Given the description of an element on the screen output the (x, y) to click on. 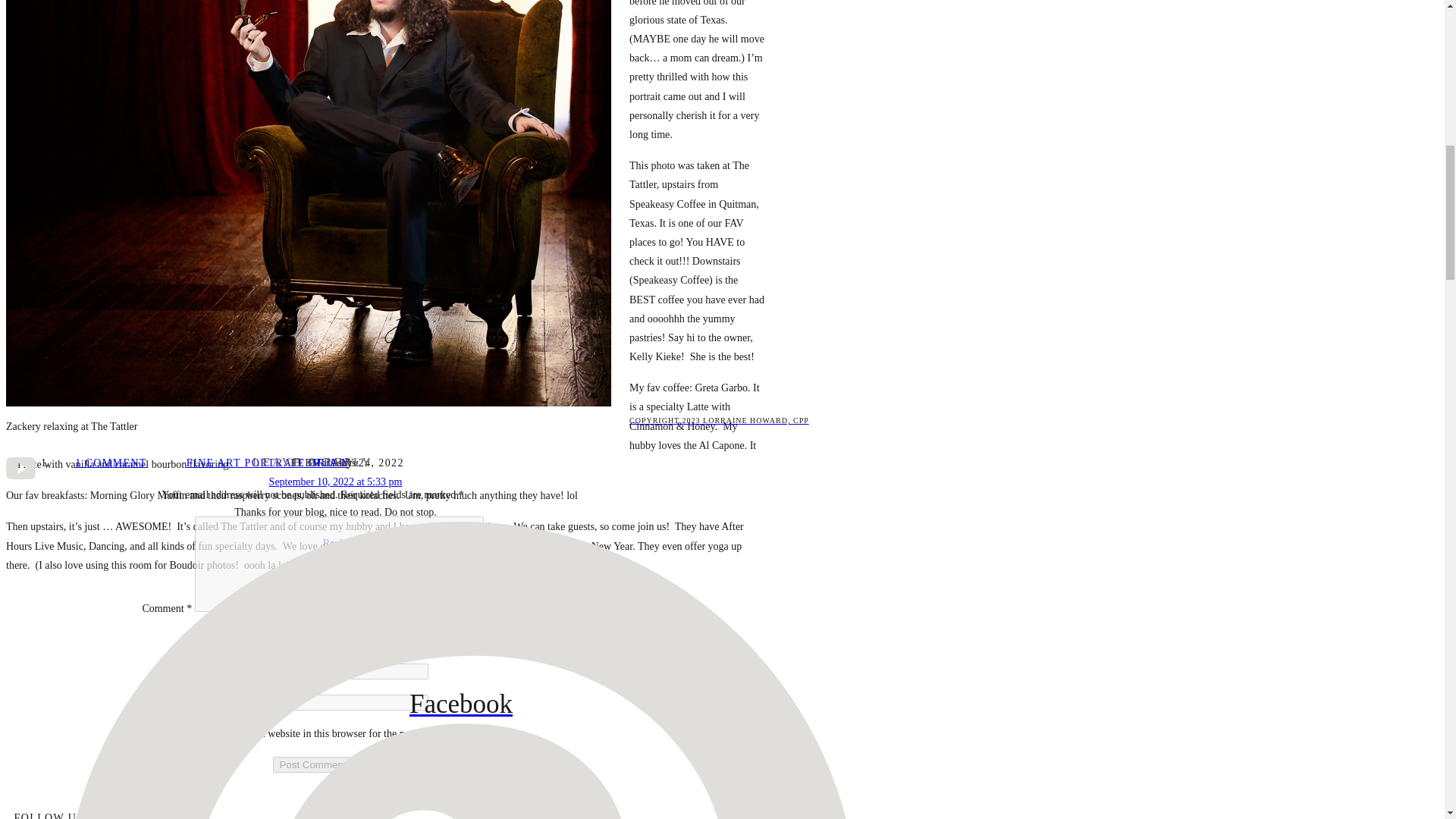
Reply (335, 542)
COPYRIGHT 2023 LORRAINE HOWARD, CPP (111, 462)
Post Comment (460, 420)
Facebook (312, 764)
FINE ART PORTRAIT OF IAN (460, 704)
Mark (267, 462)
Instagram (323, 462)
yes (460, 766)
Post Comment (143, 732)
September 10, 2022 at 5:33 pm (312, 764)
